Given the description of an element on the screen output the (x, y) to click on. 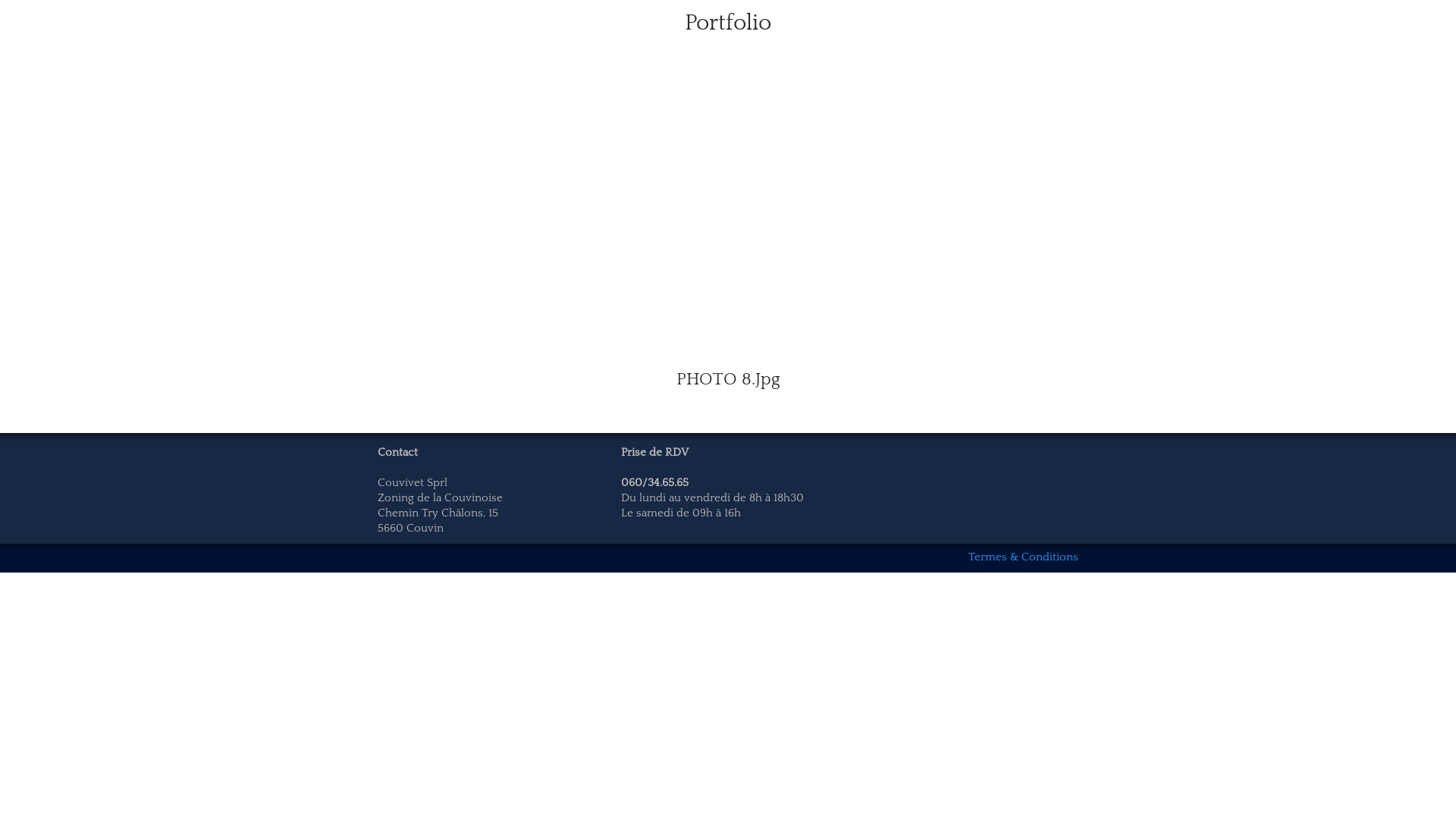
Termes & Conditions Element type: text (1023, 556)
